Given the description of an element on the screen output the (x, y) to click on. 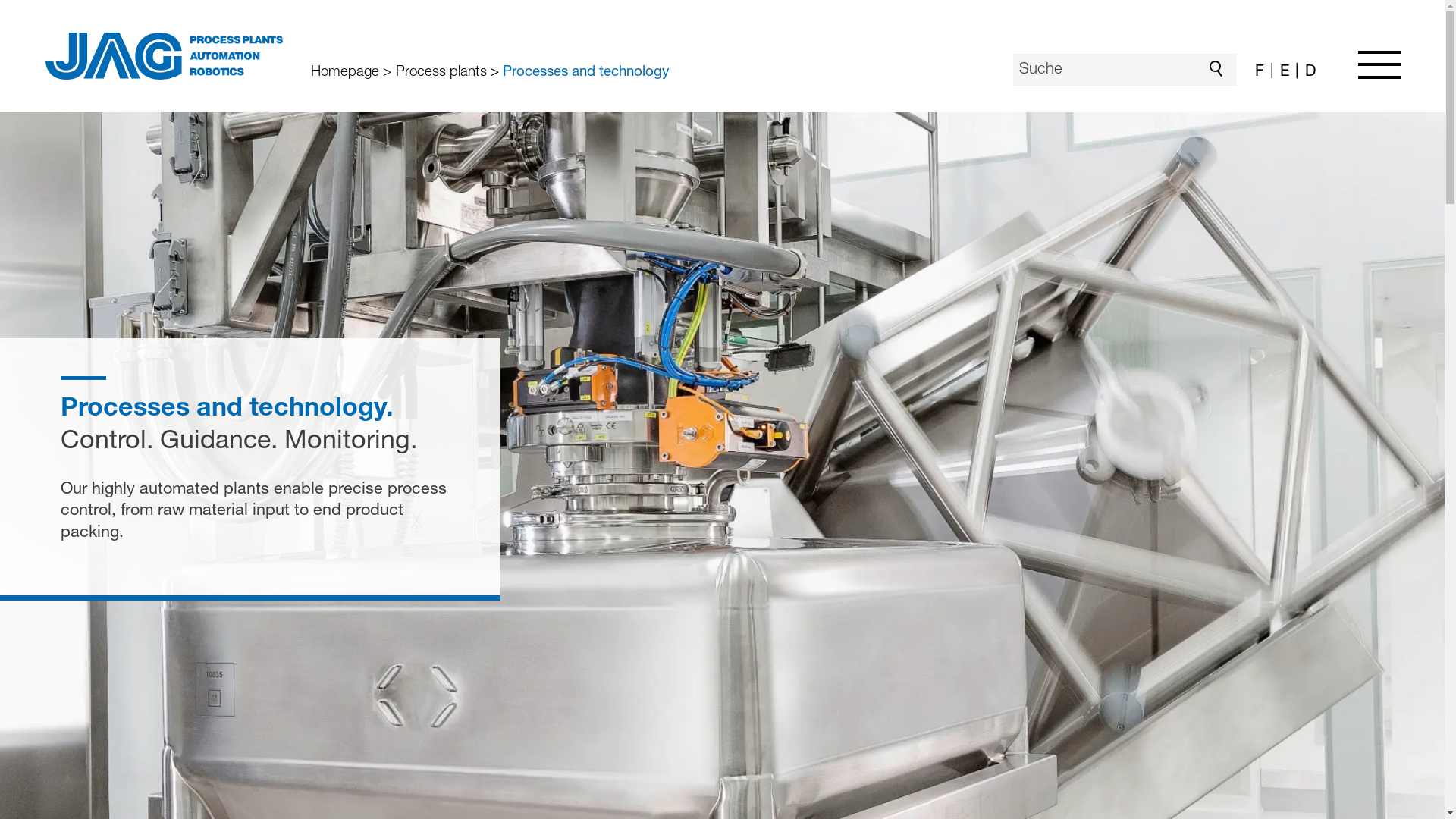
Process plants Element type: text (435, 71)
Processes and technology Element type: text (581, 71)
F Element type: text (1257, 72)
Zur Startseite Element type: hover (163, 55)
Suchen Element type: text (1220, 69)
E Element type: text (1279, 72)
D Element type: text (1303, 72)
Homepage Element type: text (346, 71)
